Given the description of an element on the screen output the (x, y) to click on. 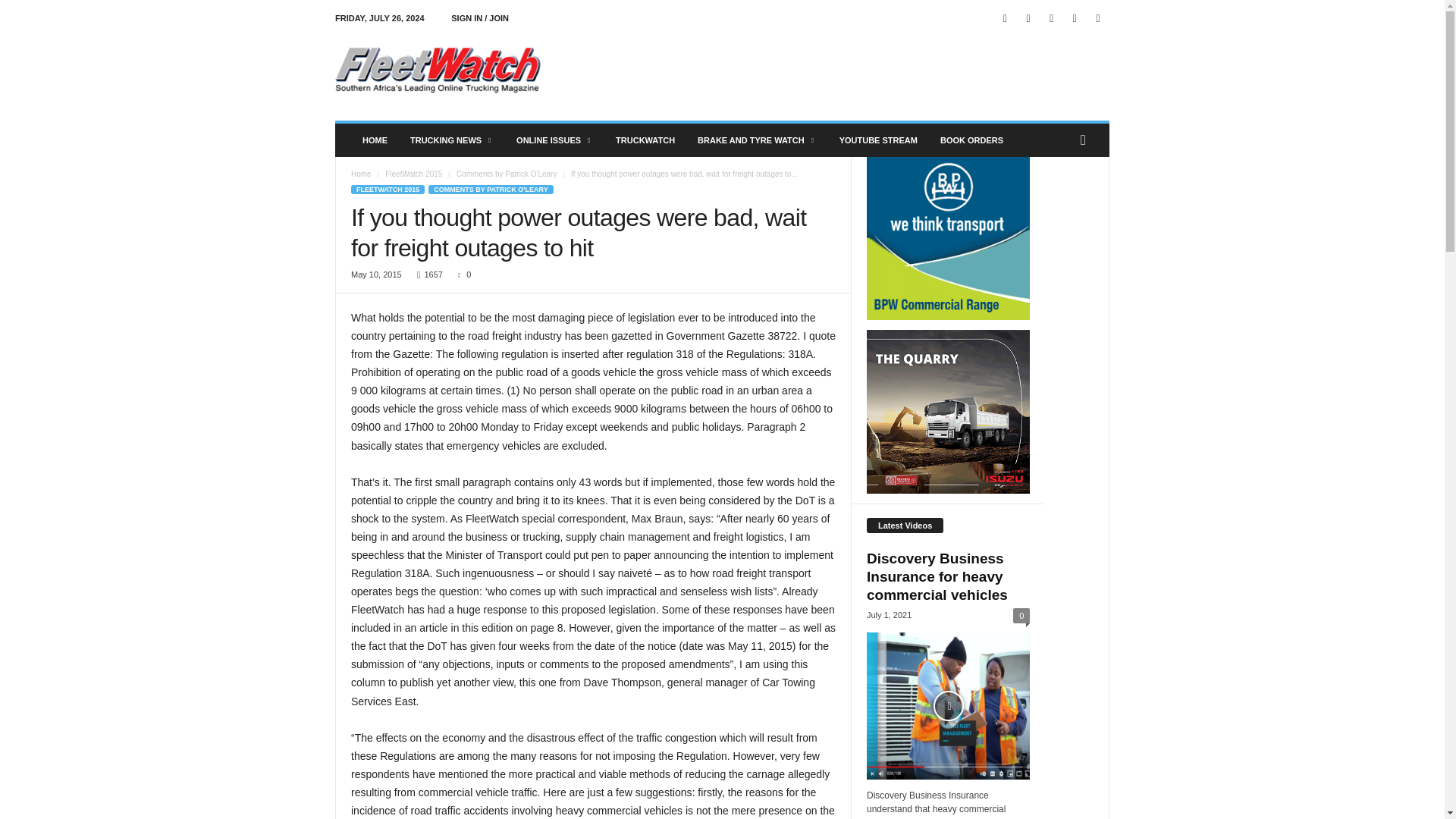
Youtube (1097, 18)
Facebook (1004, 18)
Linkedin (1051, 18)
Instagram (1027, 18)
Twitter (1074, 18)
